Given the description of an element on the screen output the (x, y) to click on. 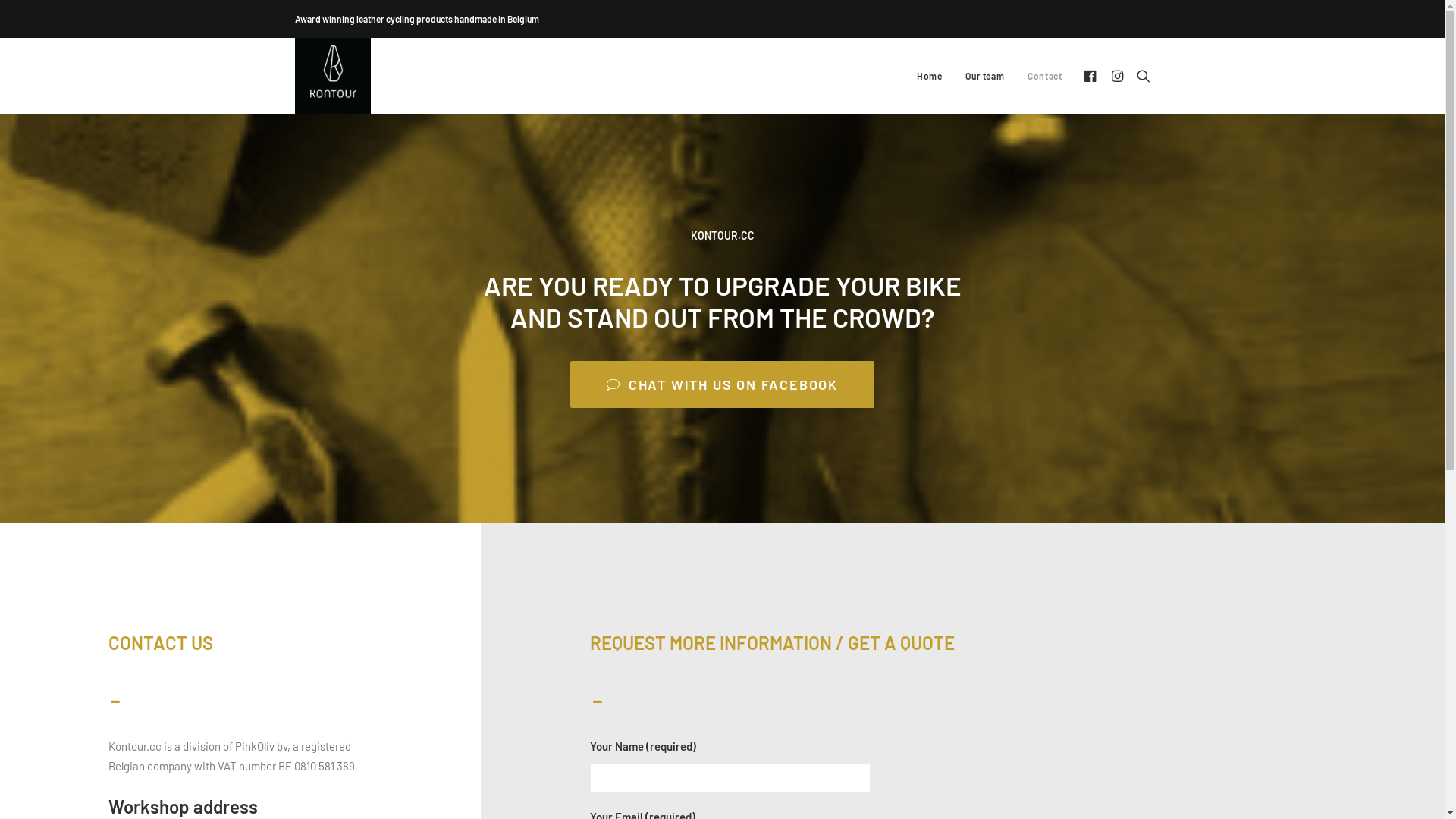
Contact Element type: text (1038, 75)
CHAT WITH US ON FACEBOOK Element type: text (722, 383)
Our team Element type: text (984, 75)
Home Element type: text (929, 75)
